Given the description of an element on the screen output the (x, y) to click on. 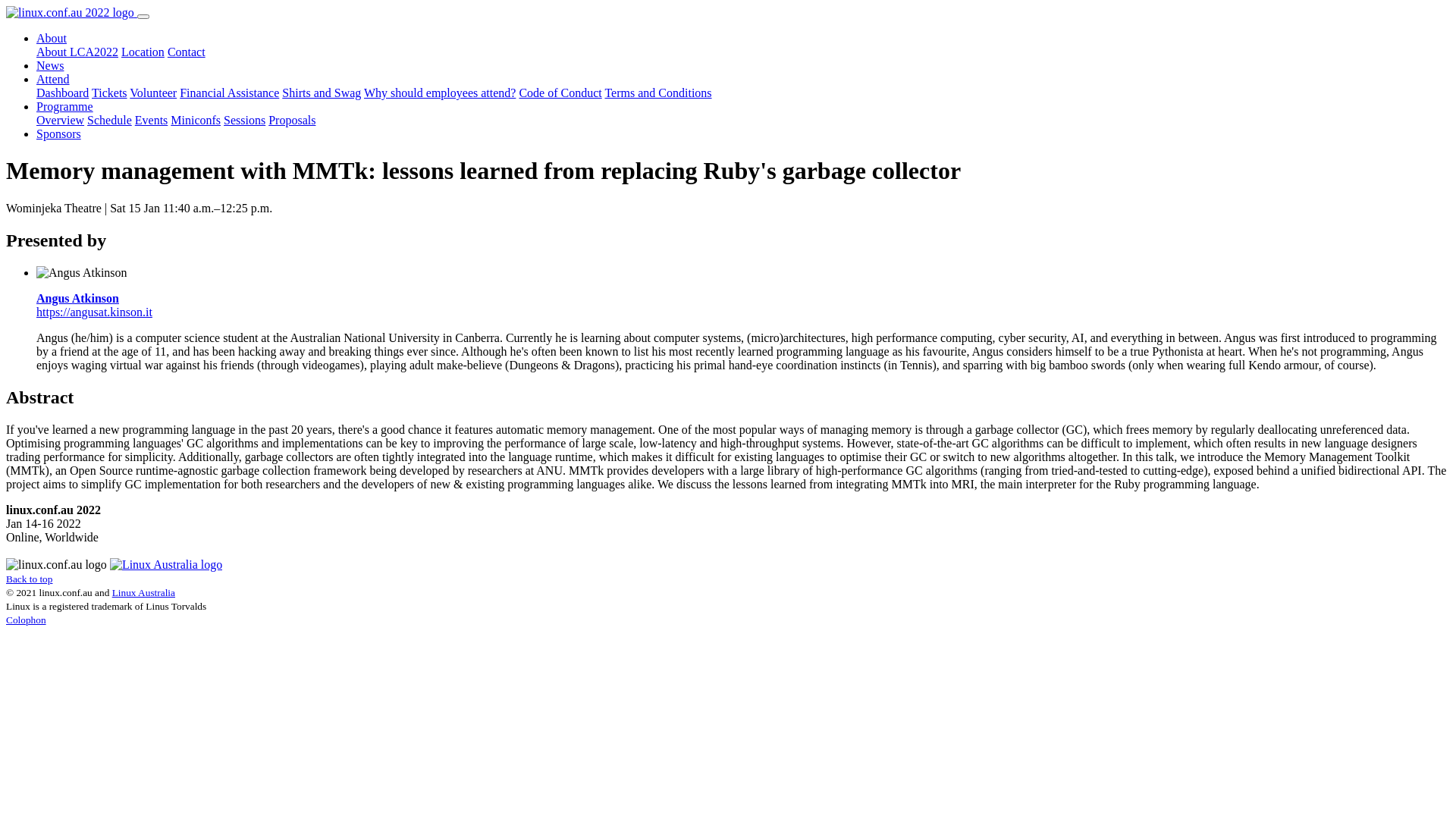
Proposals Element type: text (291, 119)
Location Element type: text (142, 51)
Events Element type: text (151, 119)
Dashboard Element type: text (62, 92)
Overview Element type: text (60, 119)
Shirts and Swag Element type: text (321, 92)
Colophon Element type: text (26, 619)
Attend Element type: text (52, 78)
Volunteer Element type: text (152, 92)
Linux Australia Element type: text (143, 592)
Terms and Conditions Element type: text (657, 92)
Why should employees attend? Element type: text (439, 92)
Contact Element type: text (186, 51)
Schedule Element type: text (109, 119)
News Element type: text (49, 65)
About Element type: text (51, 37)
Back to top Element type: text (29, 578)
About LCA2022 Element type: text (77, 51)
Tickets Element type: text (109, 92)
Sessions Element type: text (244, 119)
https://angusat.kinson.it Element type: text (94, 311)
Angus Atkinson Element type: text (77, 297)
Sponsors Element type: text (58, 133)
Programme Element type: text (64, 106)
Miniconfs Element type: text (195, 119)
Code of Conduct Element type: text (559, 92)
Financial Assistance Element type: text (229, 92)
